Given the description of an element on the screen output the (x, y) to click on. 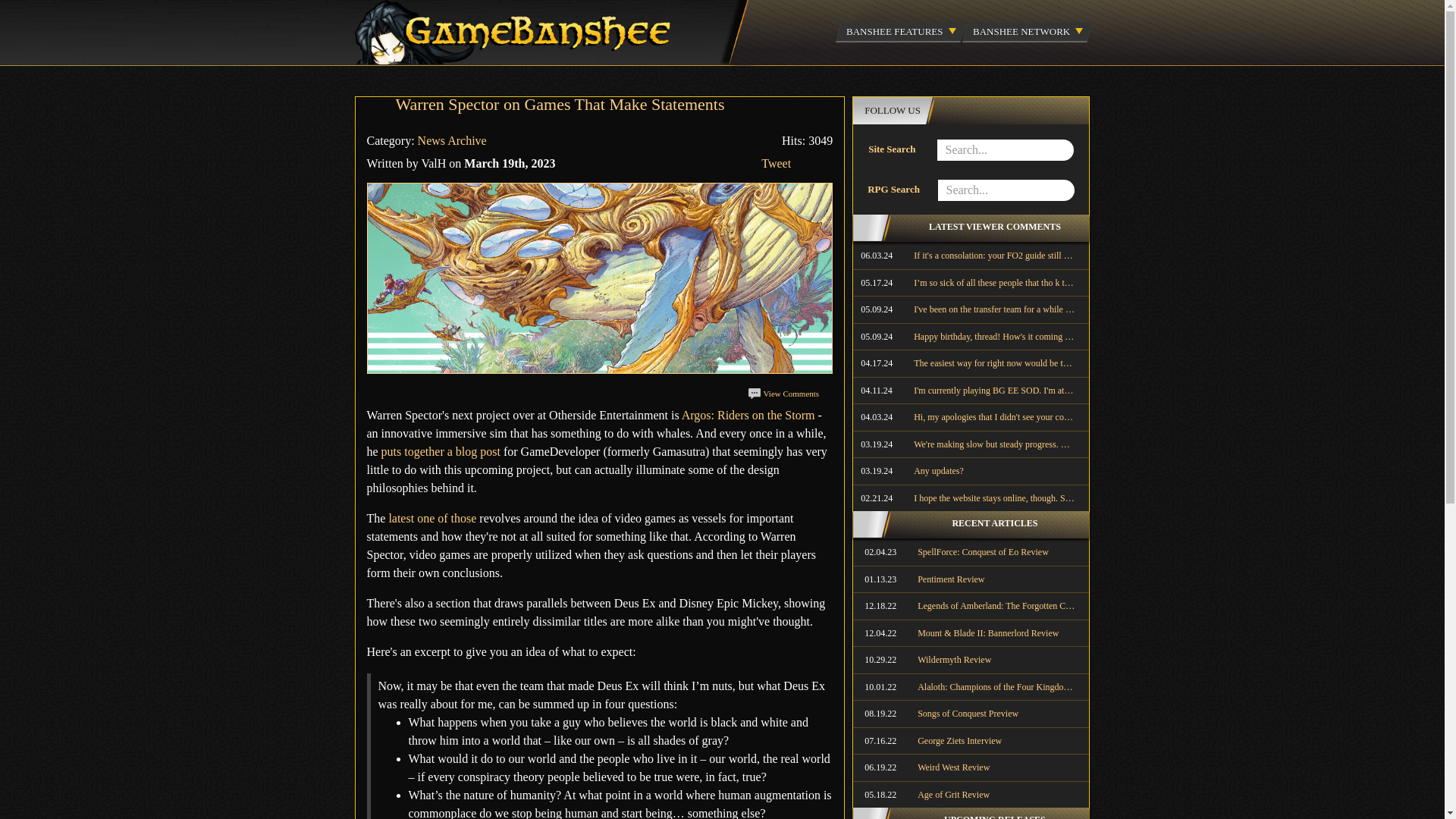
SpellForce: Conquest of Eo Review (970, 551)
Alaloth: Champions of the Four Kingdoms Preview (970, 686)
Songs of Conquest Preview (970, 713)
Add a comment (783, 393)
Legends of Amberland: The Forgotten Crown Review (970, 605)
Weird West Review (970, 766)
Pentiment Review (970, 579)
Age of Grit Review (970, 794)
George Ziets Interview (970, 740)
Wildermyth Review (970, 659)
